Given the description of an element on the screen output the (x, y) to click on. 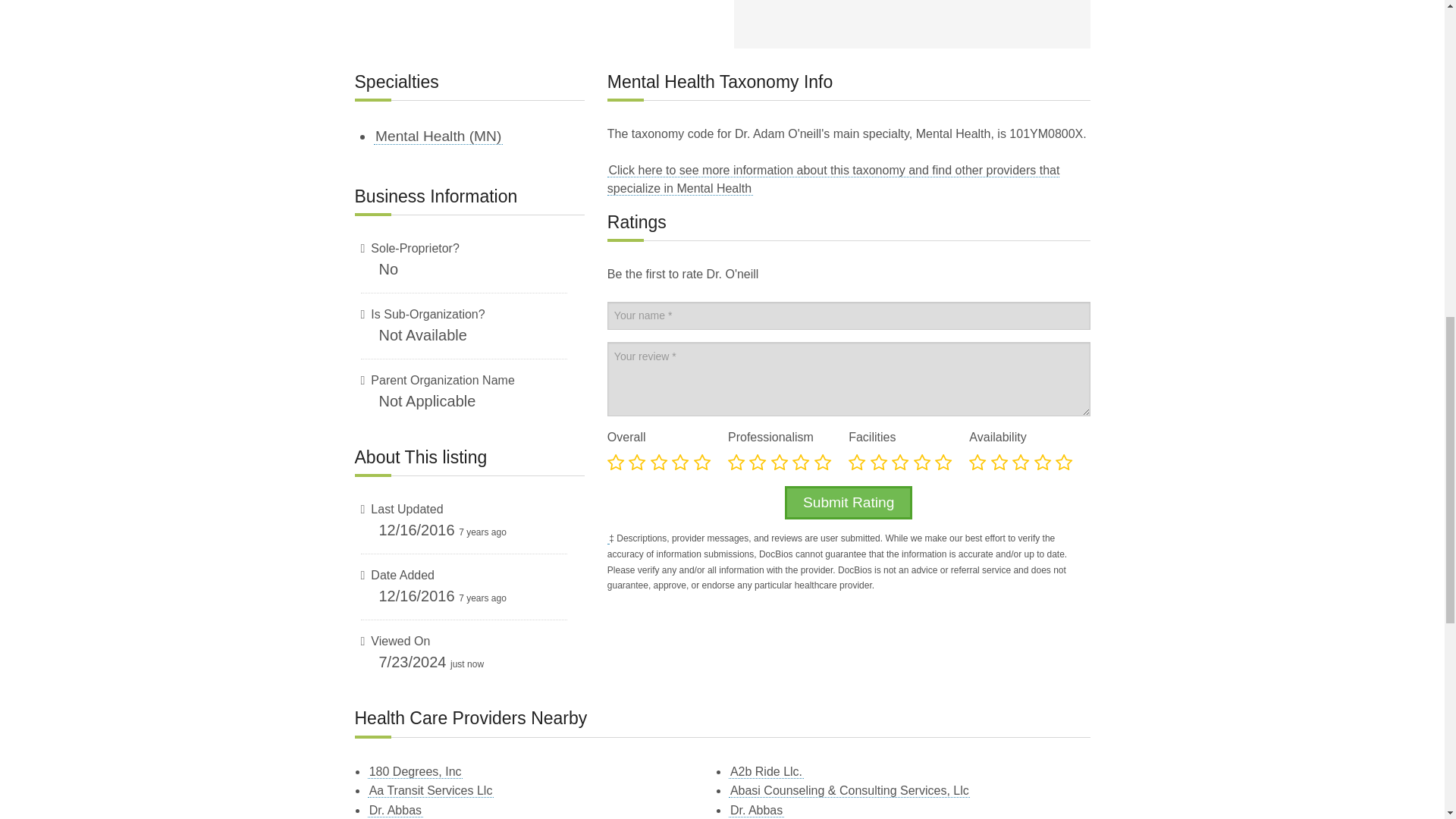
below average (637, 462)
very bad (857, 462)
Dr. Abbas (756, 810)
good (801, 462)
below average (758, 462)
180 Degrees, Inc (415, 771)
average (659, 462)
A2b Ride Llc. (766, 771)
Submit Rating (848, 502)
average (780, 462)
good (680, 462)
very bad (616, 462)
excellent (822, 462)
Dr. Abbas (395, 810)
